Given the description of an element on the screen output the (x, y) to click on. 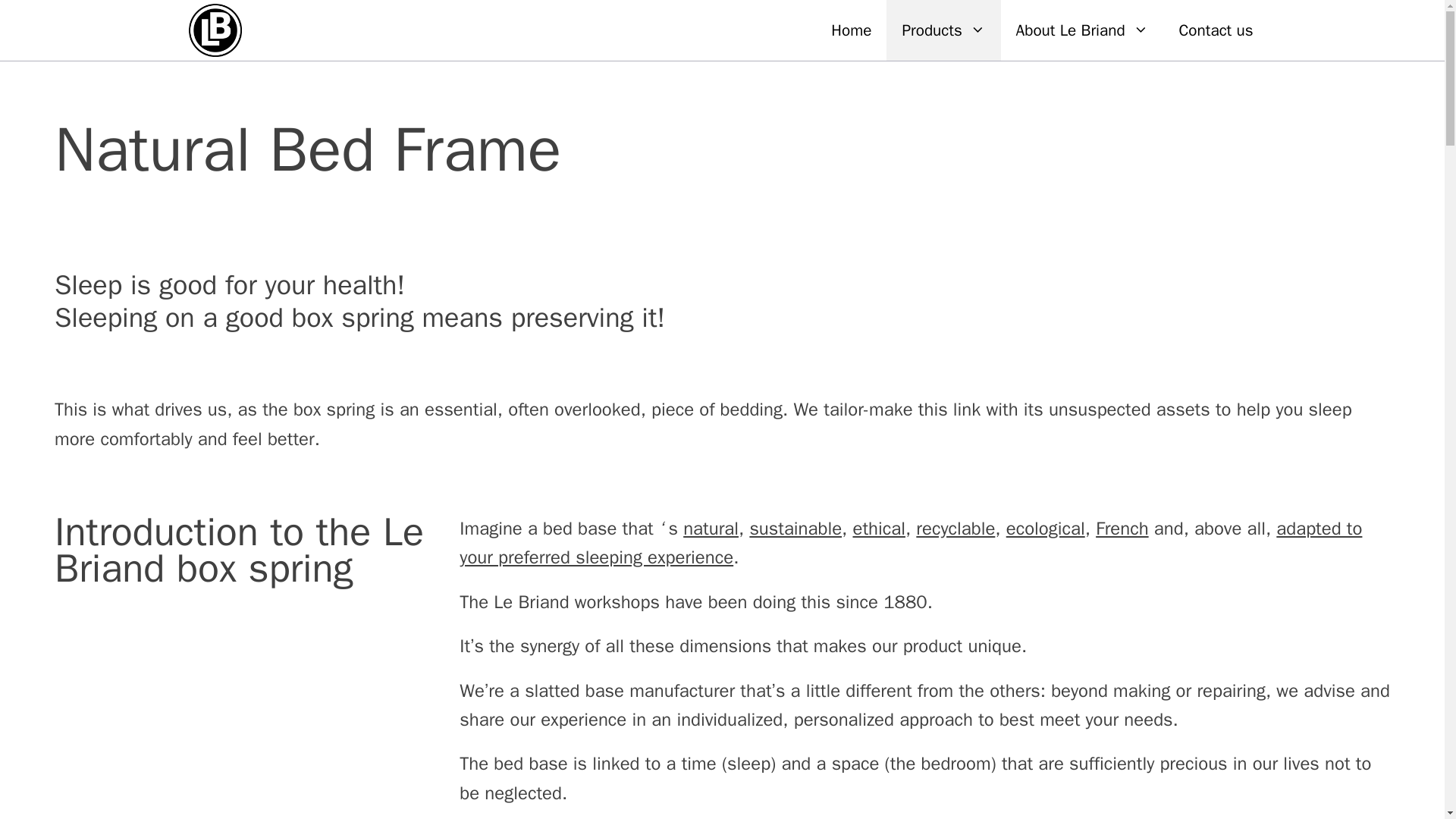
Contact us (1215, 30)
About Le Briand (1082, 30)
Home (850, 30)
Products (943, 30)
